Given the description of an element on the screen output the (x, y) to click on. 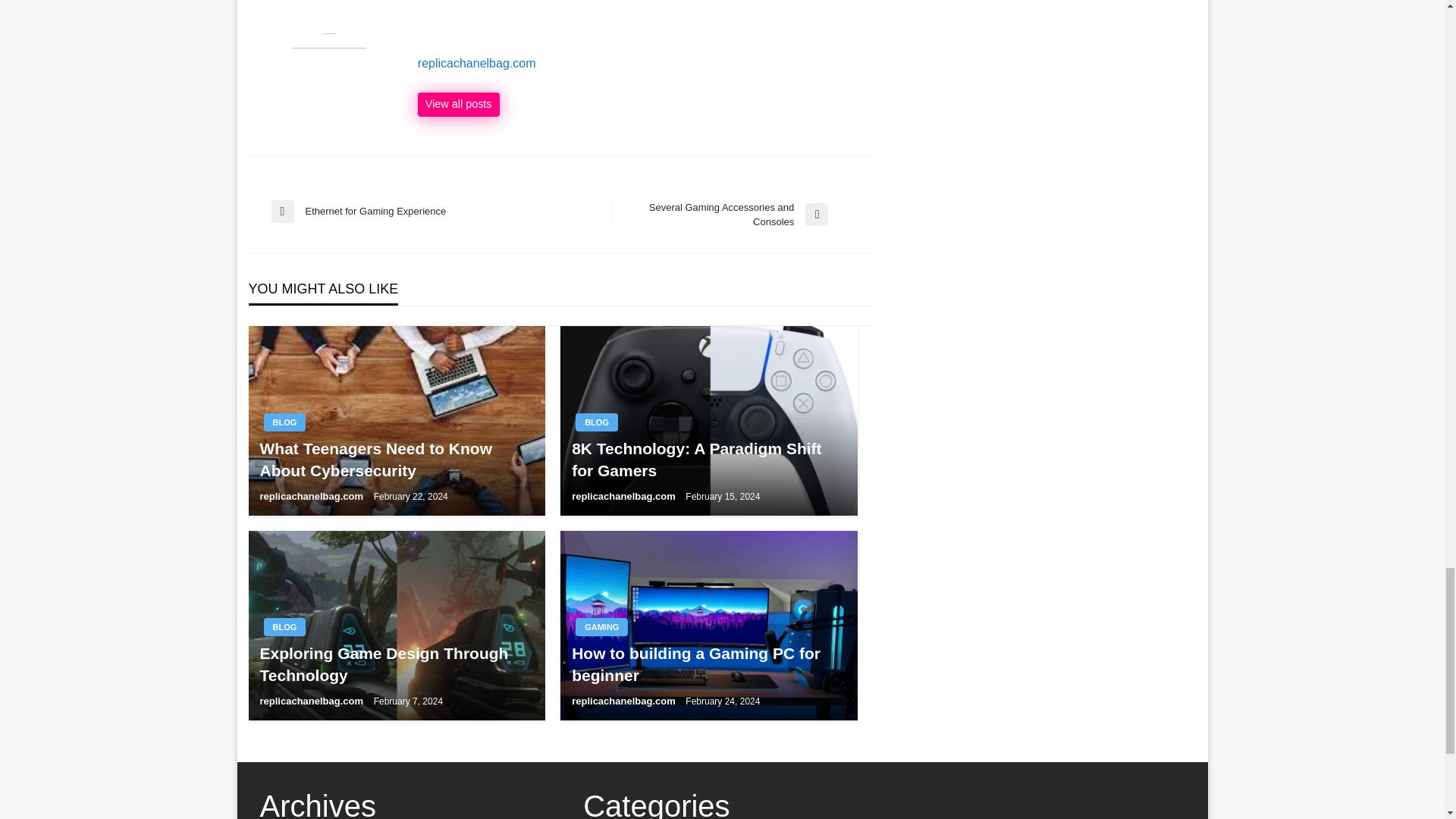
replicachanelbag.com (637, 63)
replicachanelbag.com (312, 496)
BLOG (284, 422)
replicachanelbag.com (458, 104)
BLOG (596, 422)
Exploring Game Design Through Technology (396, 664)
BLOG (284, 627)
What Teenagers Need to Know About Cybersecurity (396, 459)
replicachanelbag.com (415, 210)
